Given the description of an element on the screen output the (x, y) to click on. 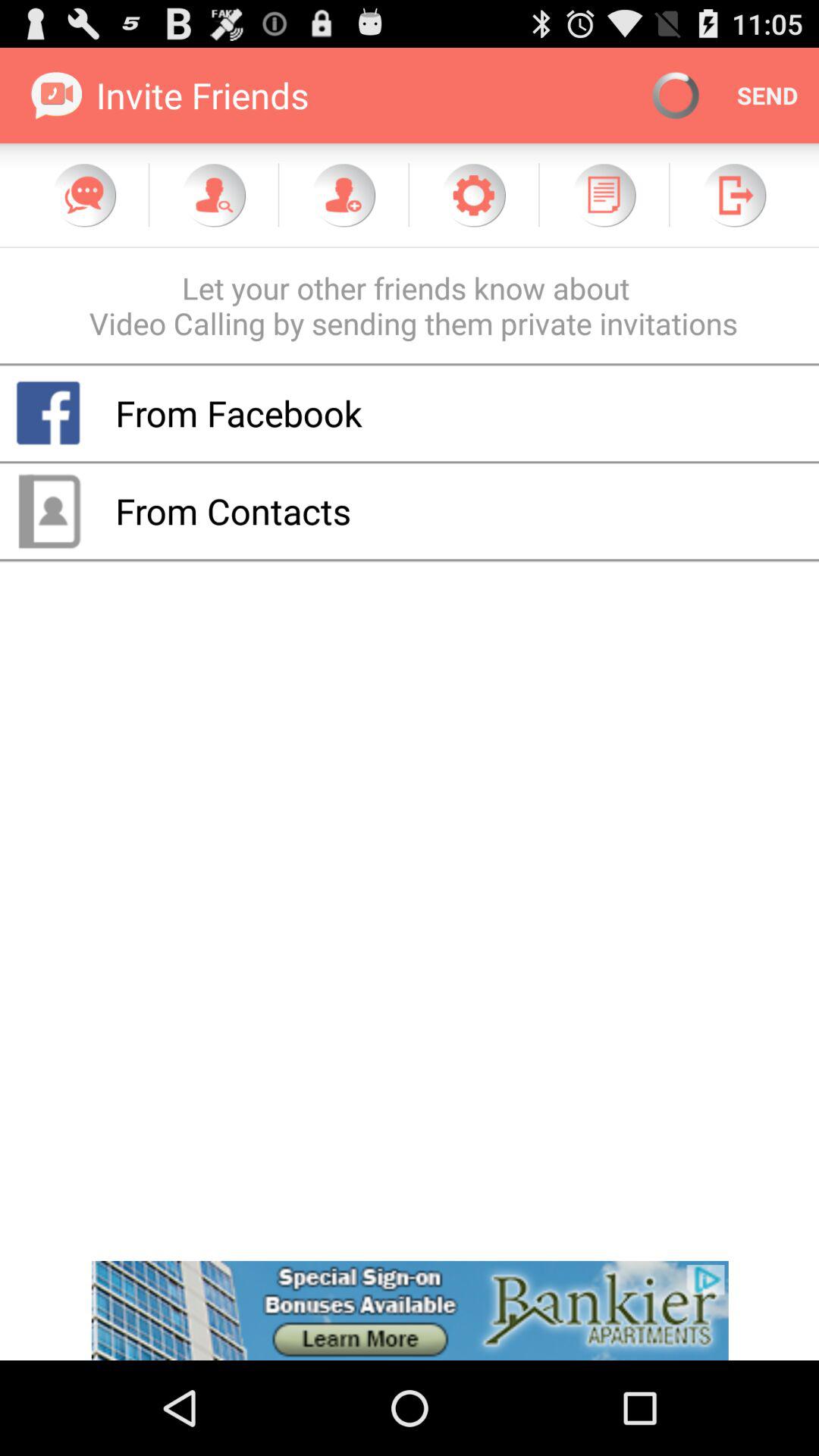
save (603, 194)
